Given the description of an element on the screen output the (x, y) to click on. 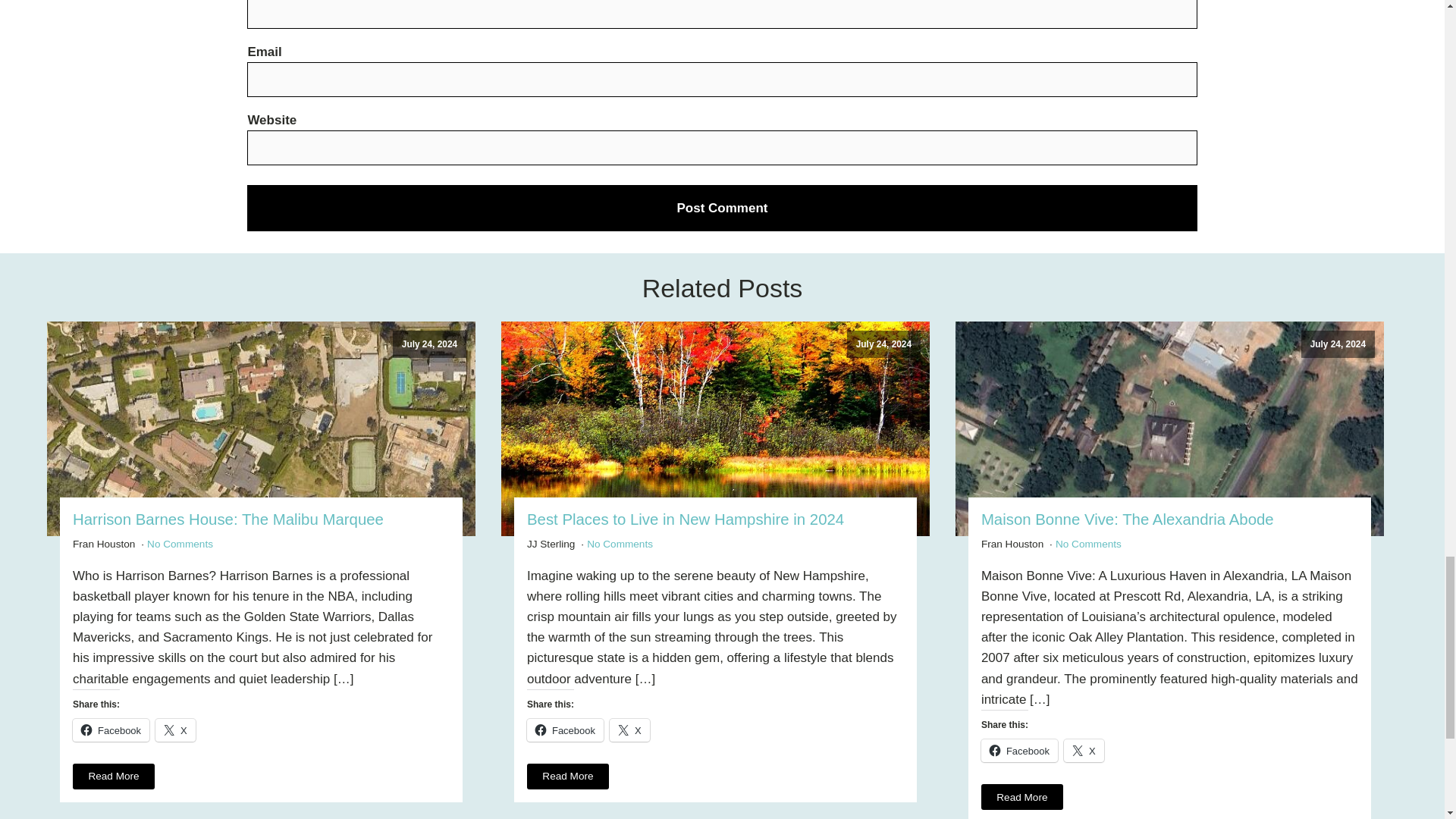
Click to share on X (1083, 750)
Click to share on Facebook (565, 730)
Click to share on Facebook (110, 730)
Click to share on Facebook (1019, 750)
Click to share on X (629, 730)
Click to share on X (175, 730)
Post Comment (721, 207)
